Given the description of an element on the screen output the (x, y) to click on. 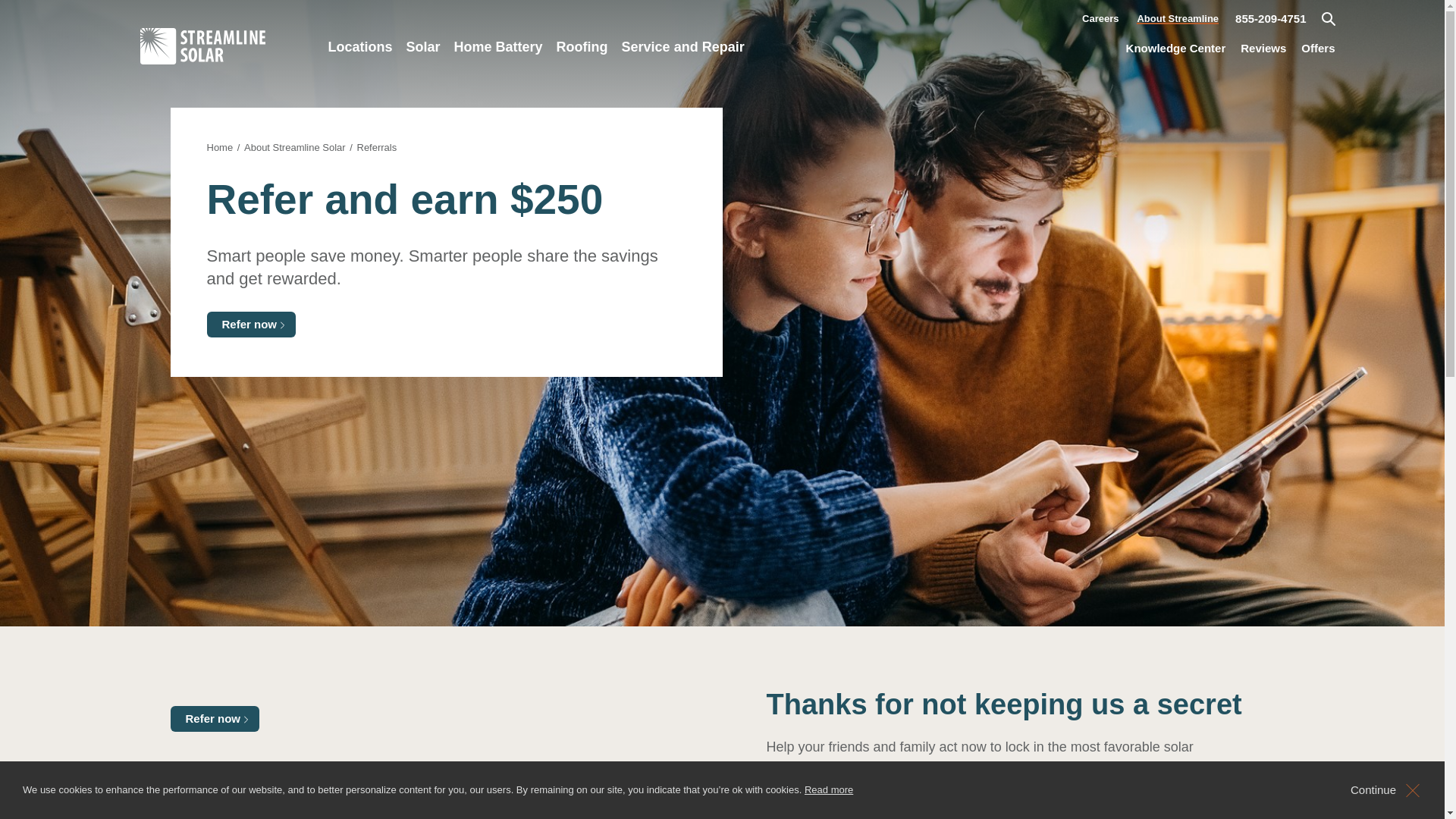
Home Battery (498, 64)
Locations (359, 64)
Careers (1099, 13)
Knowledge Center (1175, 48)
Offers (1318, 48)
About Streamline (1176, 13)
Reviews (1262, 48)
855-209-4751 (1270, 18)
Roofing (582, 64)
Service and Repair (682, 64)
